Given the description of an element on the screen output the (x, y) to click on. 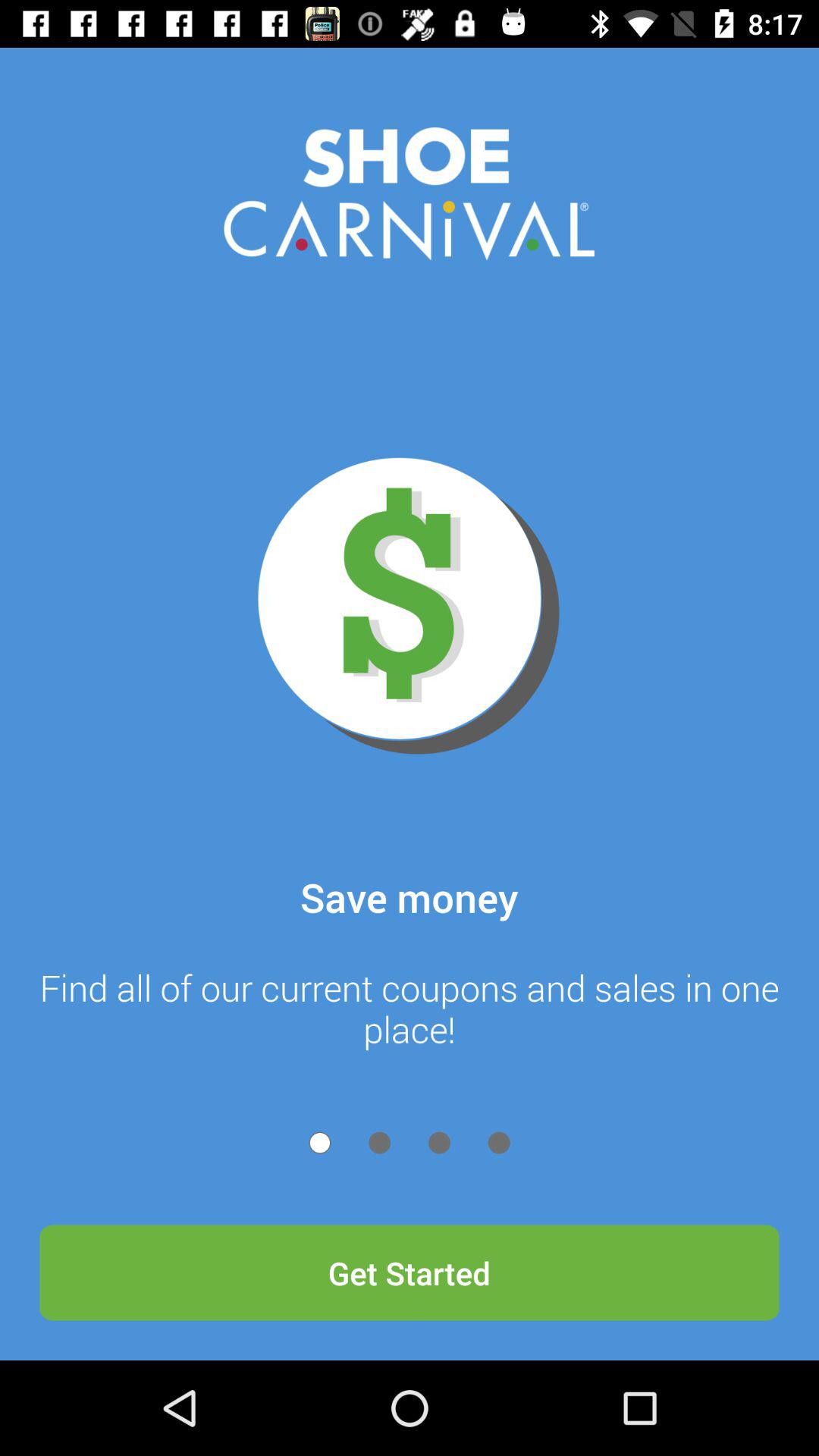
tap get started (409, 1272)
